Given the description of an element on the screen output the (x, y) to click on. 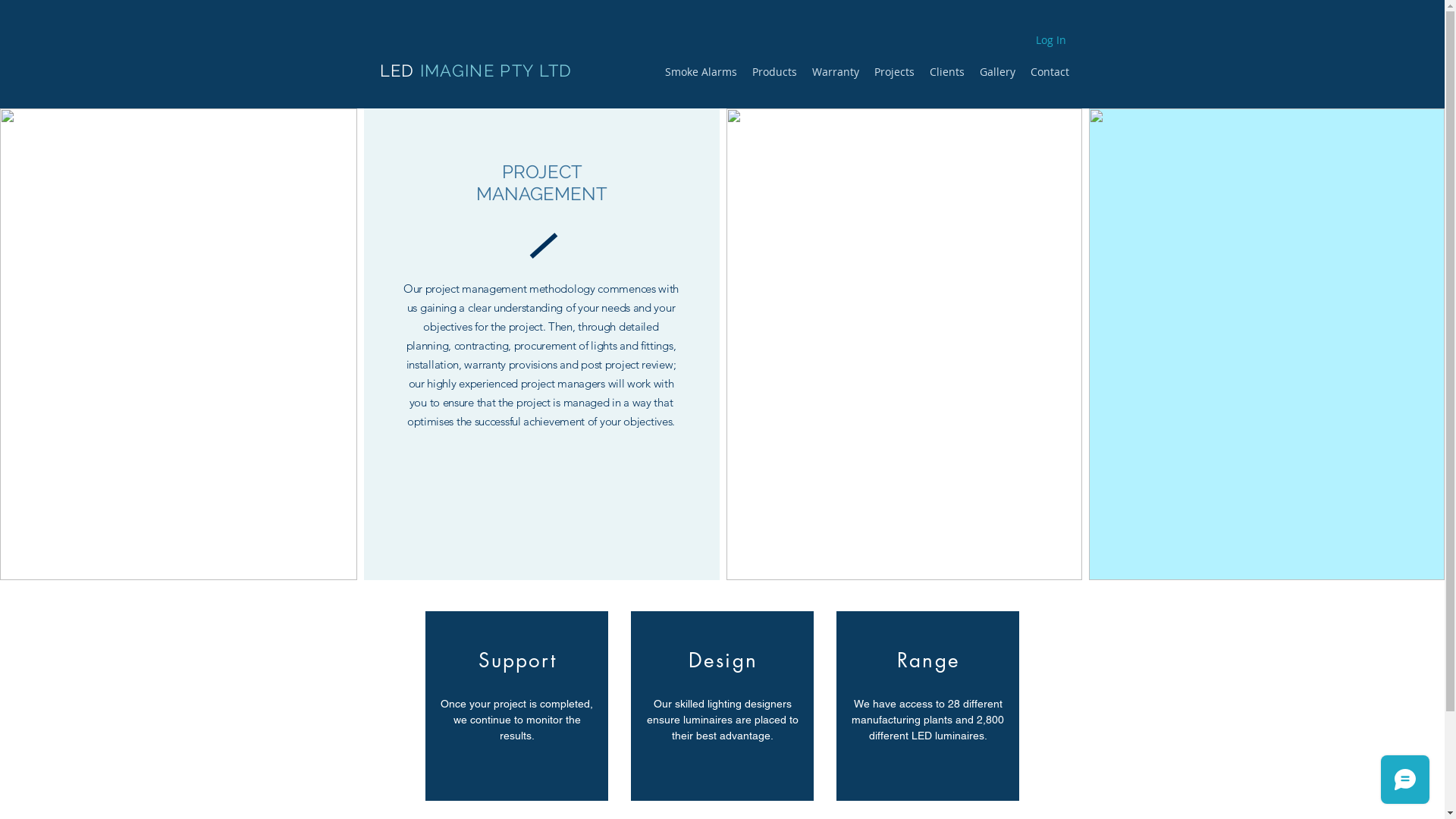
Log In Element type: text (1050, 40)
Warranty Element type: text (834, 71)
Gallery Element type: text (997, 71)
Projects Element type: text (893, 71)
Products Element type: text (774, 71)
Clients Element type: text (947, 71)
Smoke Alarms Element type: text (699, 71)
Contact Element type: text (1049, 71)
LED IMAGINE PTY LTD Element type: text (475, 70)
